Given the description of an element on the screen output the (x, y) to click on. 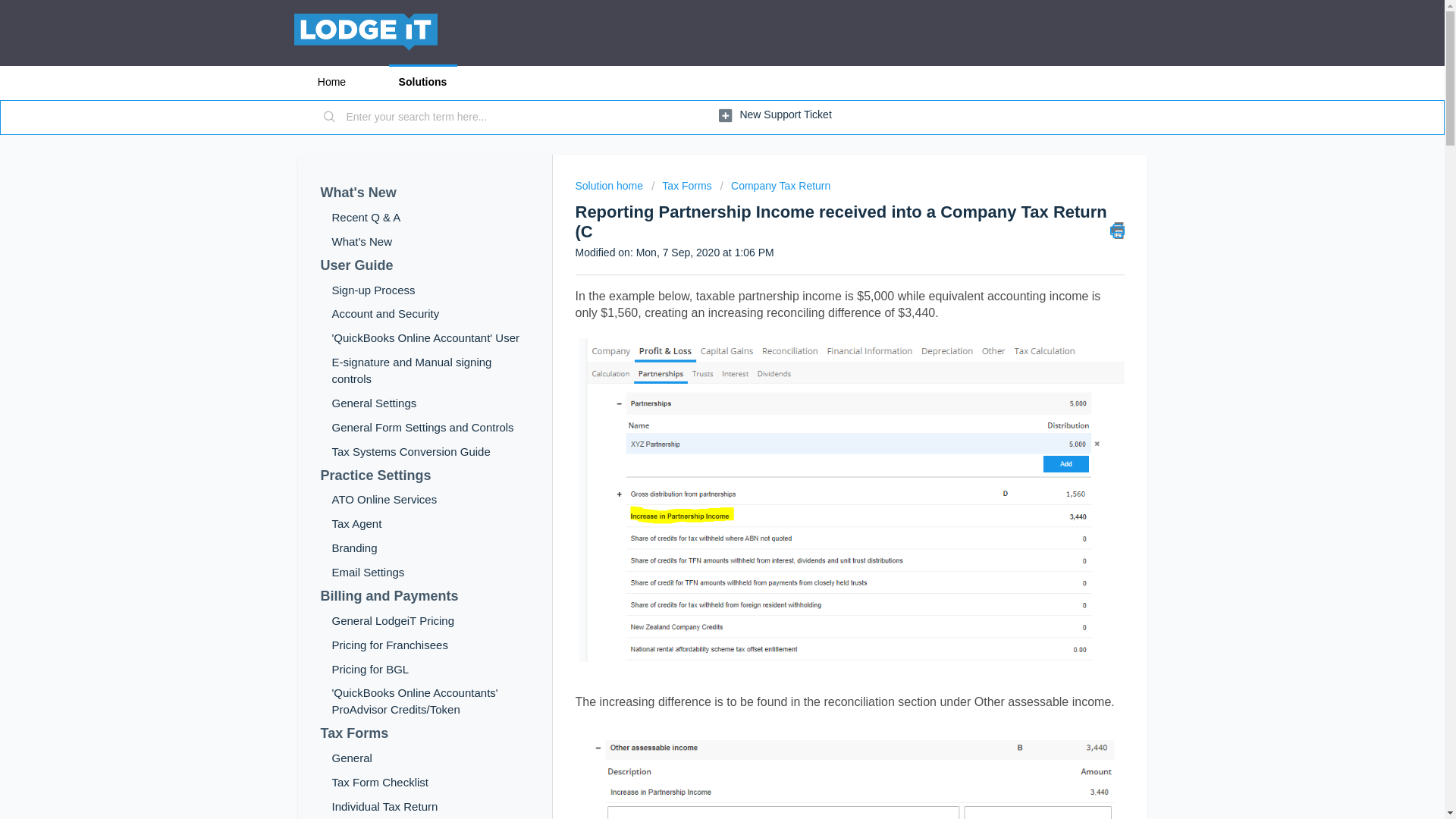
Individual Tax Return Element type: text (430, 806)
Tax Form Checklist Element type: text (430, 782)
Solutions Element type: text (422, 82)
User Guide Element type: text (424, 265)
Company Tax Return Element type: text (775, 185)
General LodgeiT Pricing Element type: text (430, 620)
Solution home Element type: text (609, 185)
Recent Q & A Element type: text (430, 217)
What's New Element type: text (424, 193)
E-signature and Manual signing controls Element type: text (430, 370)
Tax Agent Element type: text (430, 523)
General Form Settings and Controls Element type: text (430, 427)
Tax Forms Element type: text (681, 185)
What's New Element type: text (430, 241)
Practice Settings Element type: text (424, 475)
Tax Systems Conversion Guide Element type: text (430, 451)
ATO Online Services Element type: text (430, 499)
Pricing for Franchisees Element type: text (430, 645)
Email Settings Element type: text (430, 572)
Tax Forms Element type: text (424, 733)
Account and Security Element type: text (430, 313)
Print this Article Element type: hover (1117, 230)
'QuickBooks Online Accountant' User Element type: text (430, 337)
'QuickBooks Online Accountants' ProAdvisor Credits/Token Element type: text (430, 701)
Branding Element type: text (430, 547)
Sign-up Process Element type: text (430, 290)
New Support Ticket Element type: text (774, 115)
General Element type: text (430, 757)
Pricing for BGL Element type: text (430, 669)
Billing and Payments Element type: text (424, 596)
General Settings Element type: text (430, 403)
Home Element type: text (331, 82)
